Given the description of an element on the screen output the (x, y) to click on. 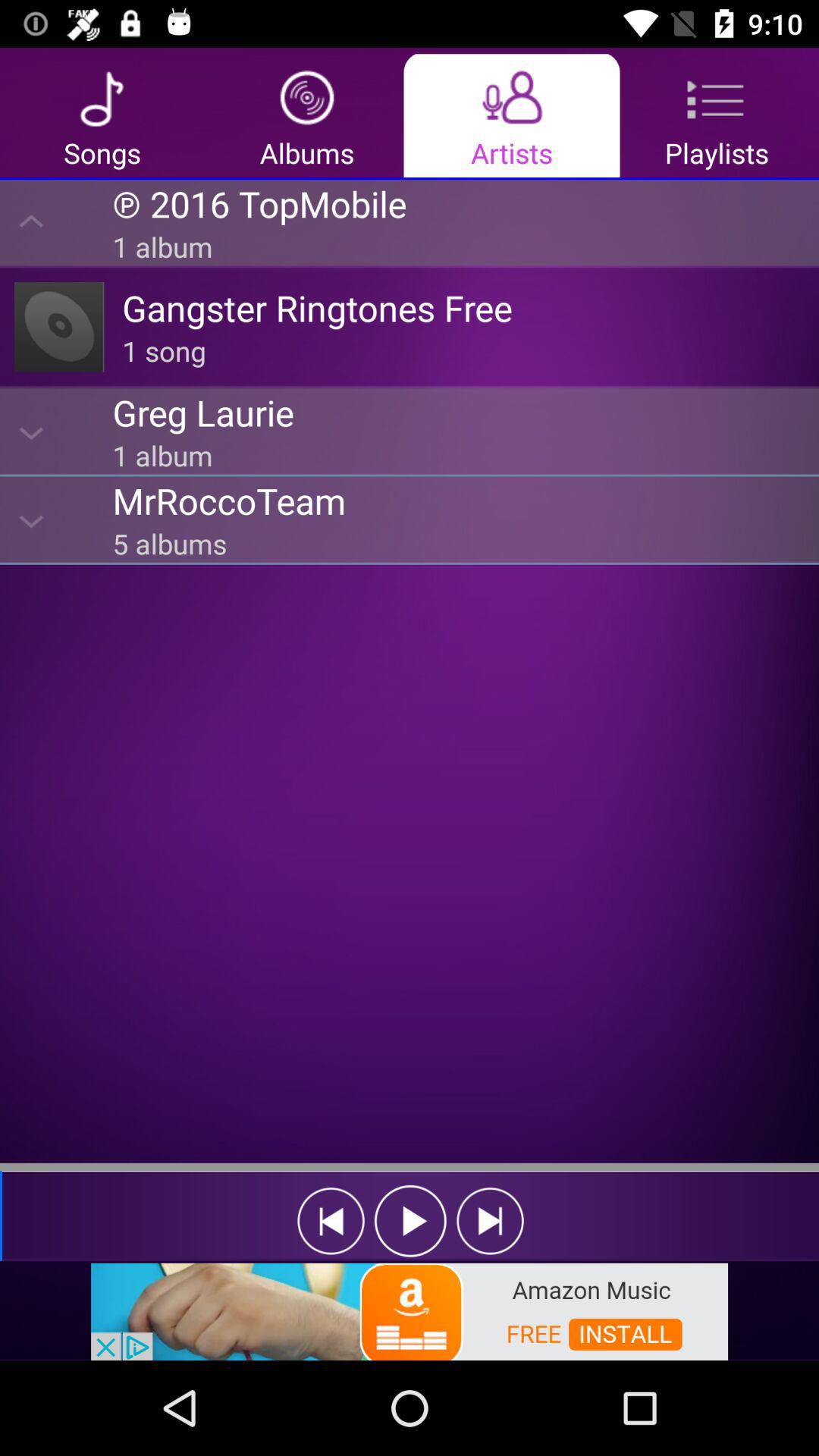
got to amazon music (409, 1310)
